Given the description of an element on the screen output the (x, y) to click on. 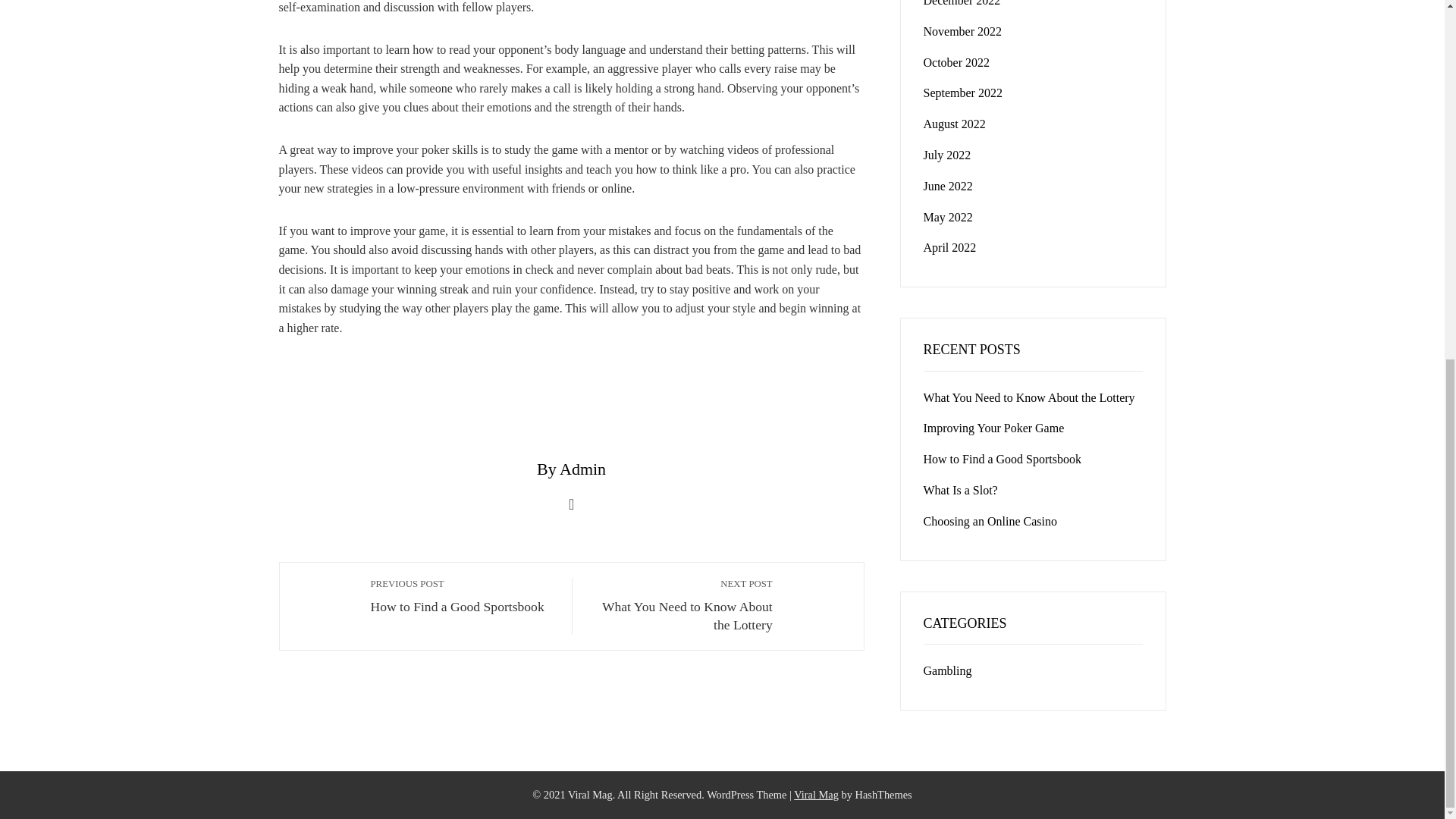
What You Need to Know About the Lottery (1029, 397)
September 2022 (963, 92)
October 2022 (956, 62)
April 2022 (949, 246)
Improving Your Poker Game (993, 427)
Viral Mag (815, 794)
Gambling (947, 670)
What Is a Slot? (960, 490)
August 2022 (680, 605)
